Given the description of an element on the screen output the (x, y) to click on. 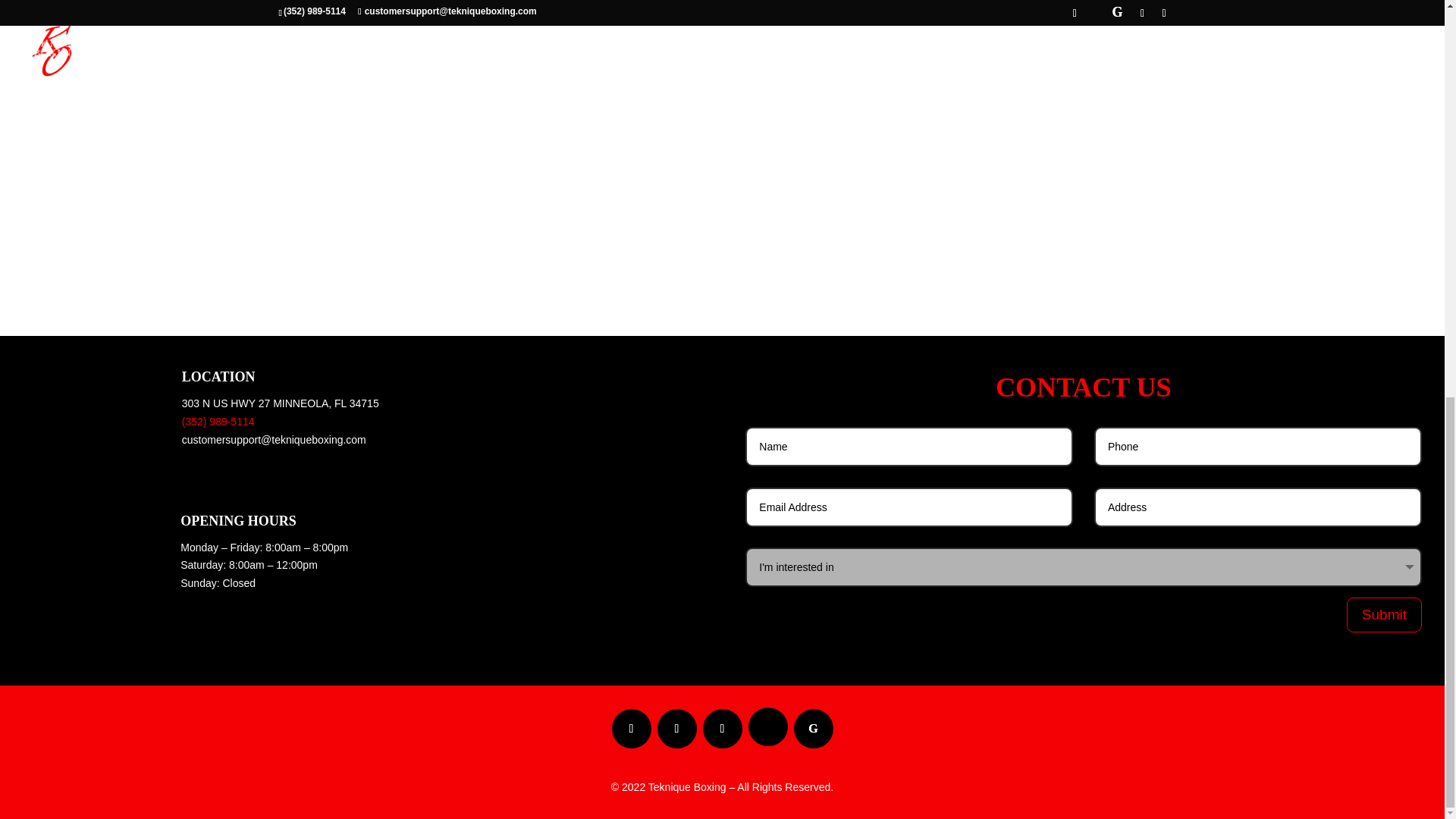
Only letters allowed. (909, 446)
Follow on Facebook (630, 728)
Follow on Youtube (721, 728)
Follow on Instagram (675, 728)
Submit (1384, 614)
Follow on Twitter (767, 726)
Only letters and numbers allowed. (1258, 507)
